Given the description of an element on the screen output the (x, y) to click on. 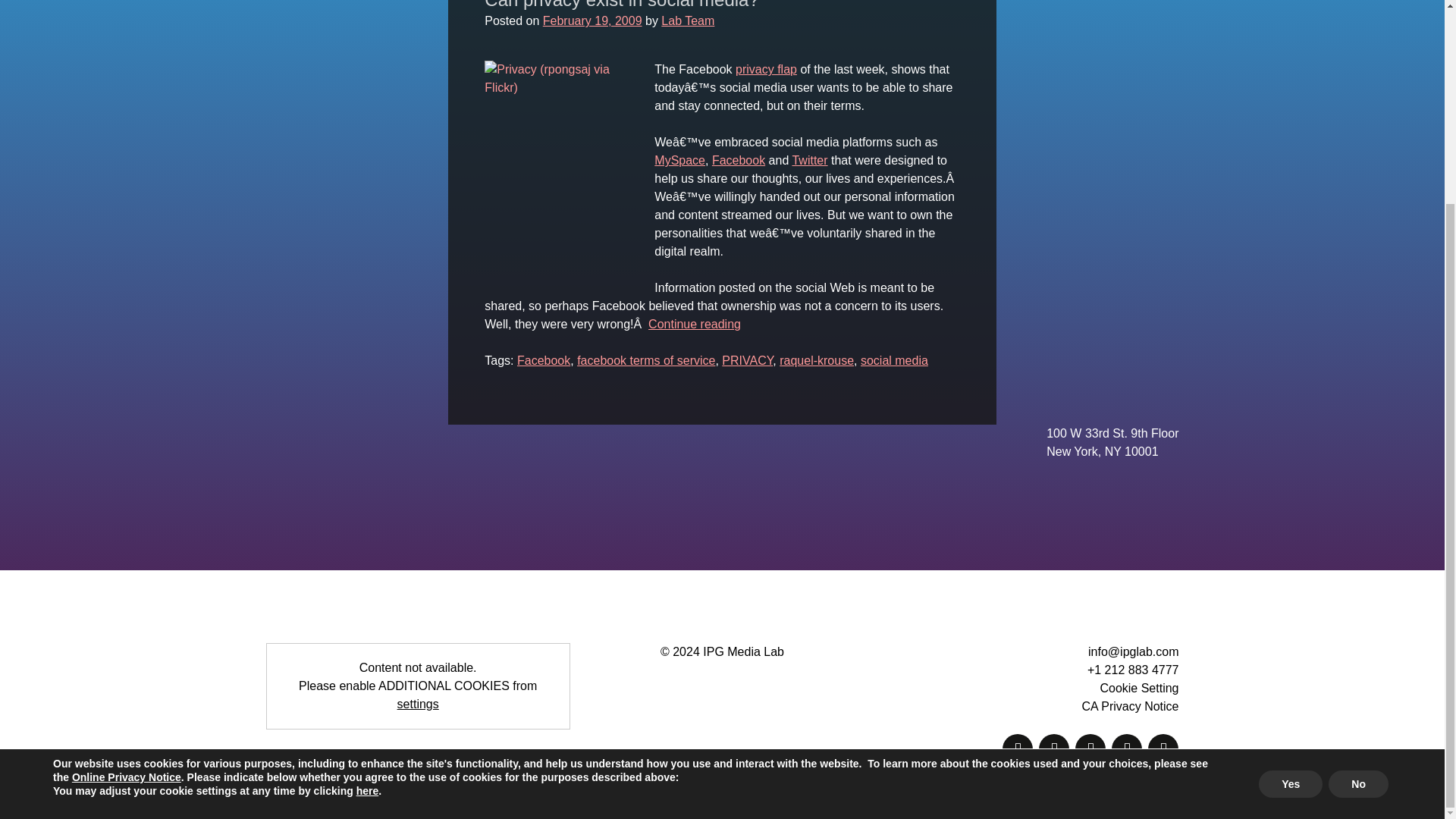
Facebook (1053, 748)
privacy flap (765, 69)
LinkedIn (1162, 748)
social media (894, 359)
Can privacy exist in social media? (621, 4)
Twitter (1090, 748)
Medium (1017, 748)
Instagram (1126, 748)
Facebook (738, 160)
Facebook (543, 359)
MySpace (678, 160)
facebook terms of service (645, 359)
February 19, 2009 (592, 20)
No (1358, 523)
raquel-krouse (815, 359)
